Given the description of an element on the screen output the (x, y) to click on. 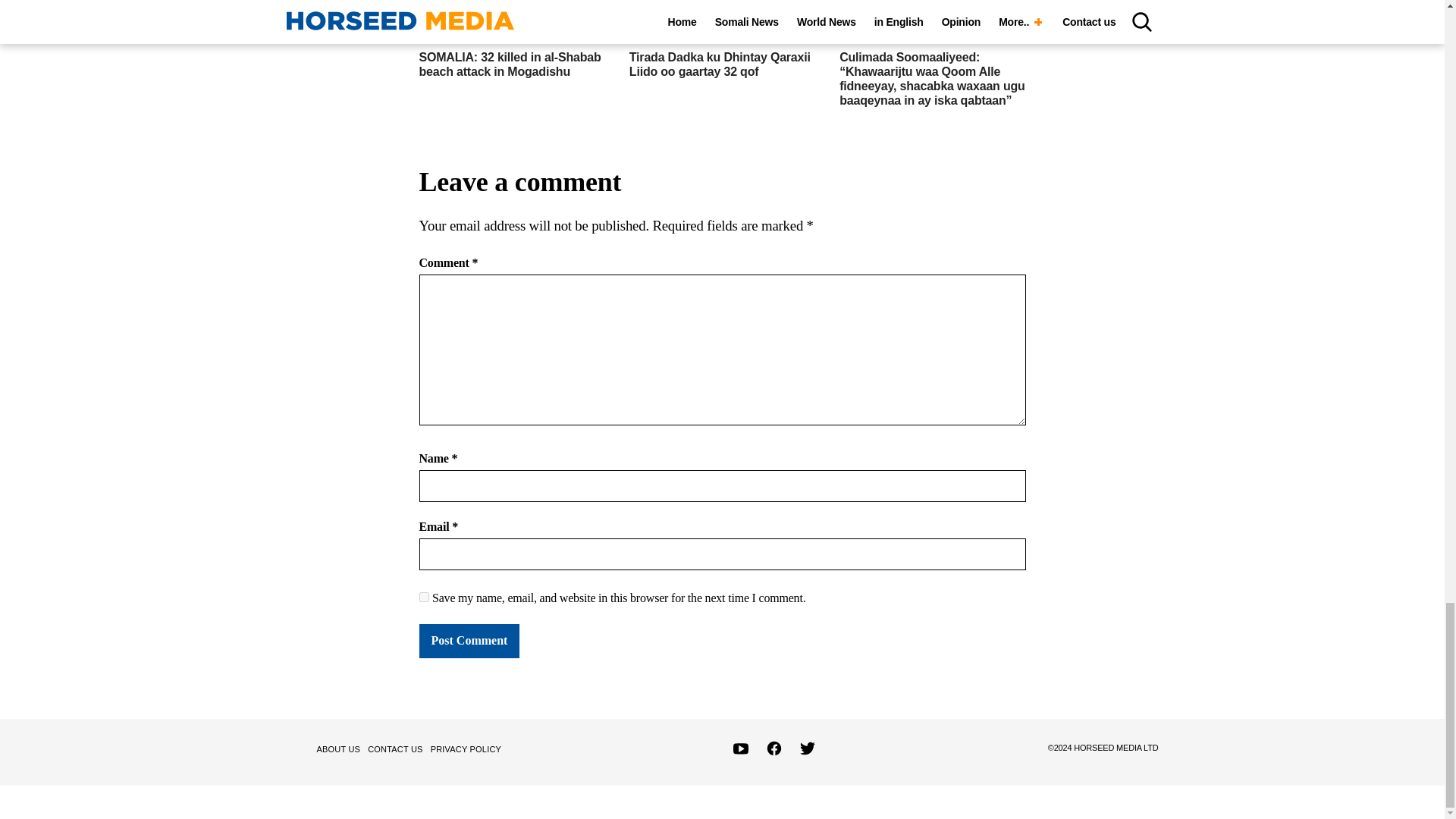
SOMALIA: 32 killed in al-Shabab beach attack in Mogadishu (509, 63)
Tirada Dadka ku Dhintay Qaraxii Liido oo gaartay 32 qof (719, 63)
Post Comment (469, 640)
yes (423, 596)
